Given the description of an element on the screen output the (x, y) to click on. 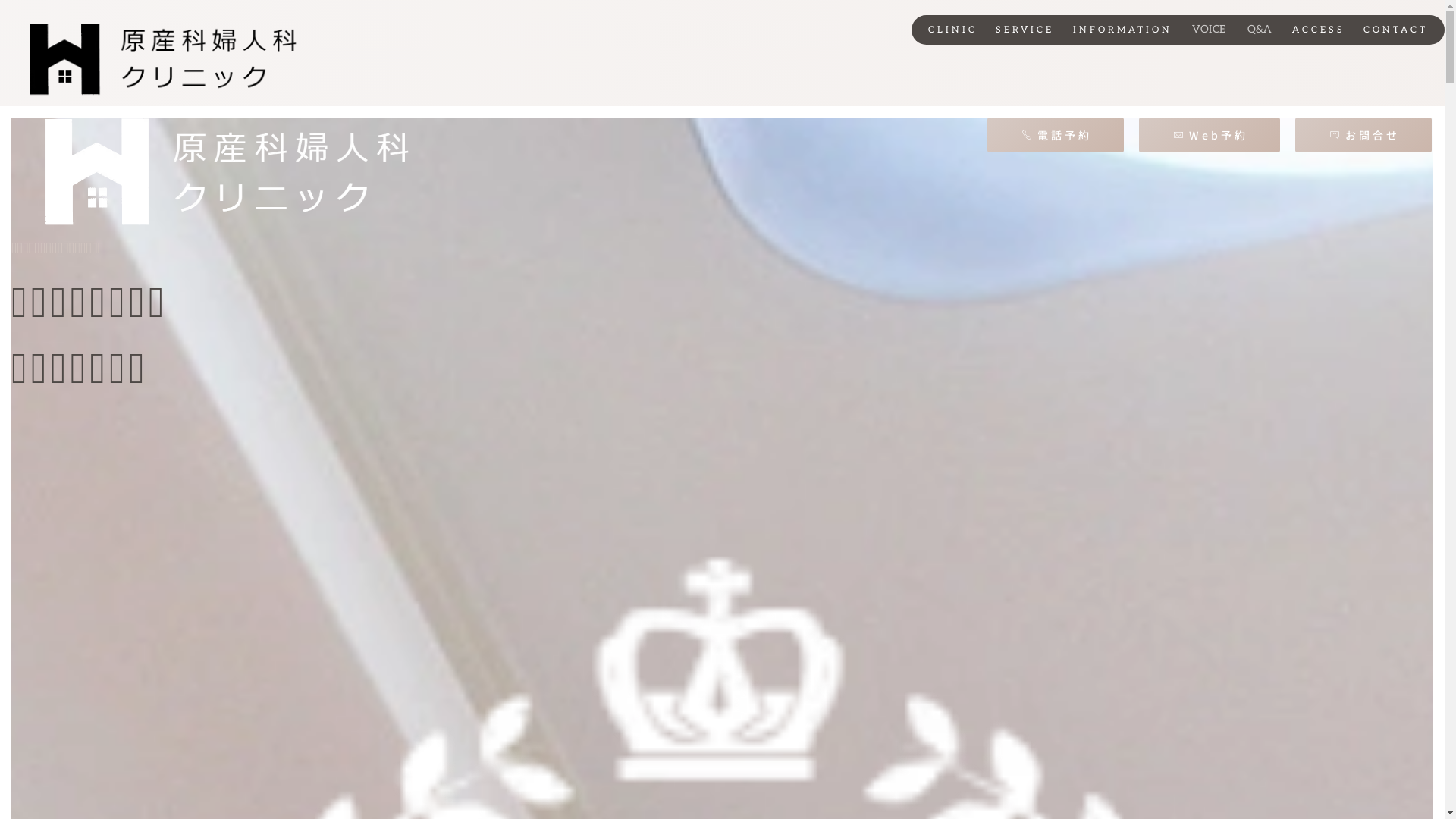
CLINIC Element type: text (952, 29)
ACCESS Element type: text (1318, 29)
INFORMATION Element type: text (1122, 29)
CONTACT Element type: text (1395, 29)
SERVICE Element type: text (1024, 29)
